Given the description of an element on the screen output the (x, y) to click on. 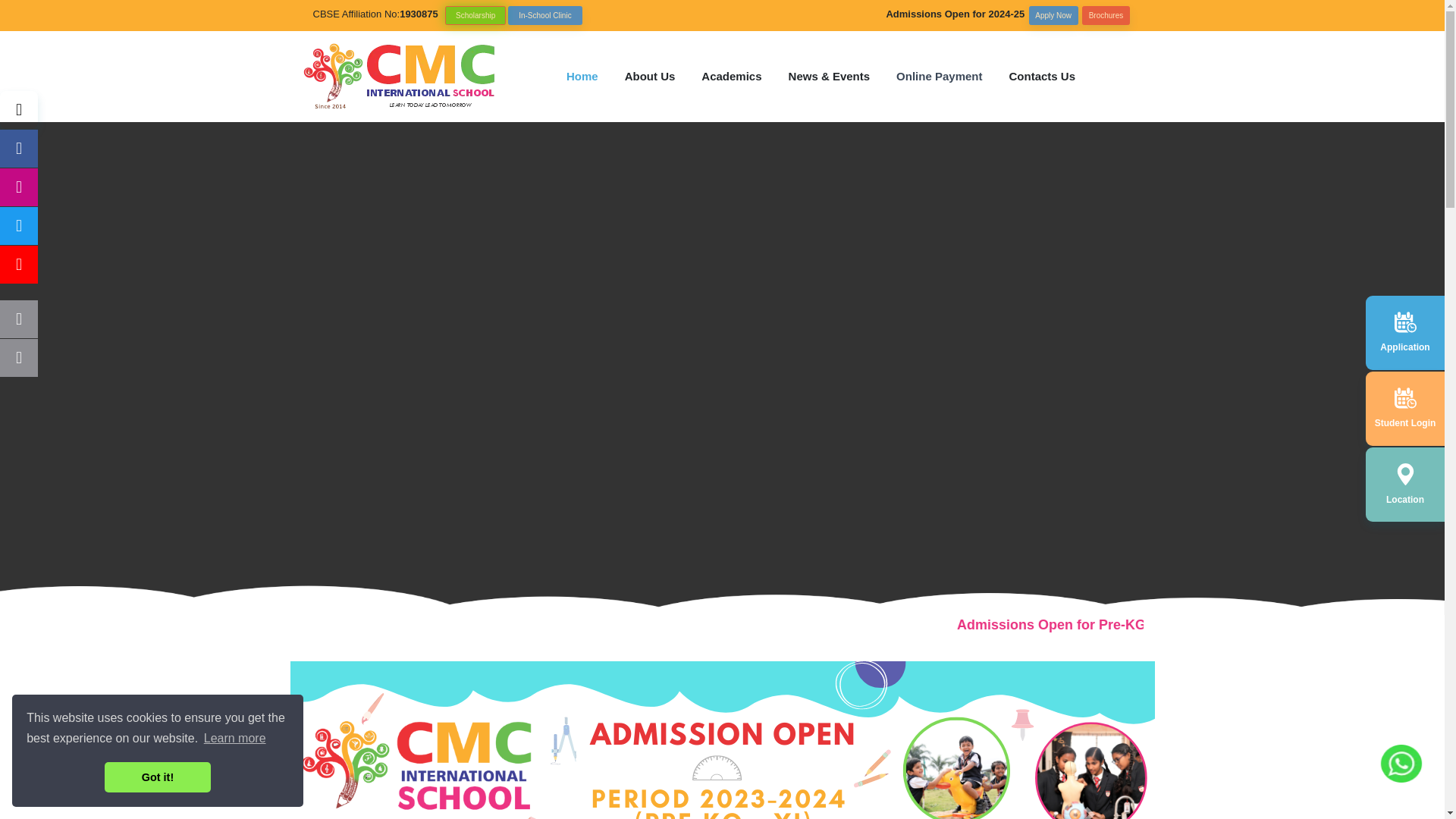
Learn more (234, 738)
Online Payment (938, 76)
Contacts Us (1042, 76)
  In-School Clinic   (545, 15)
  Scholarship   (475, 15)
Academics (731, 76)
Subscribe our Youtube (18, 264)
Follow on Instagram (18, 187)
Apply Now (1053, 15)
Student Login (1404, 422)
Follow on Twitter (18, 225)
Call us (18, 357)
Follow on Facebook (18, 319)
